Given the description of an element on the screen output the (x, y) to click on. 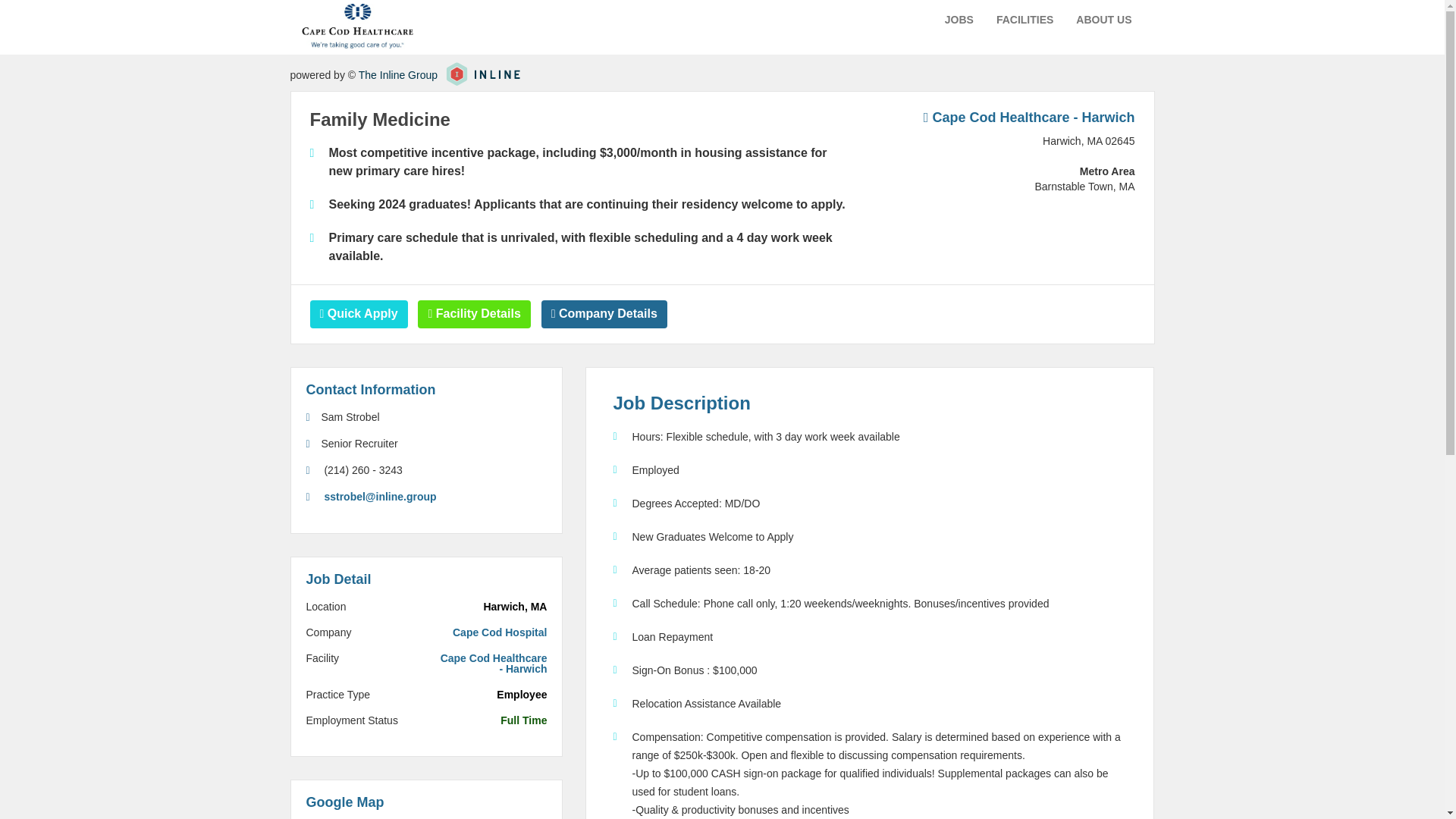
Cape Cod Hospital (492, 632)
Quick Apply (357, 314)
The Inline Group (398, 74)
ABOUT US (1103, 20)
Cape Cod Healthcare - Harwich (492, 663)
FACILITIES (1023, 20)
Cape Cod Healthcare - Harwich (1029, 117)
Facility Details (473, 314)
Company Details (603, 314)
